Given the description of an element on the screen output the (x, y) to click on. 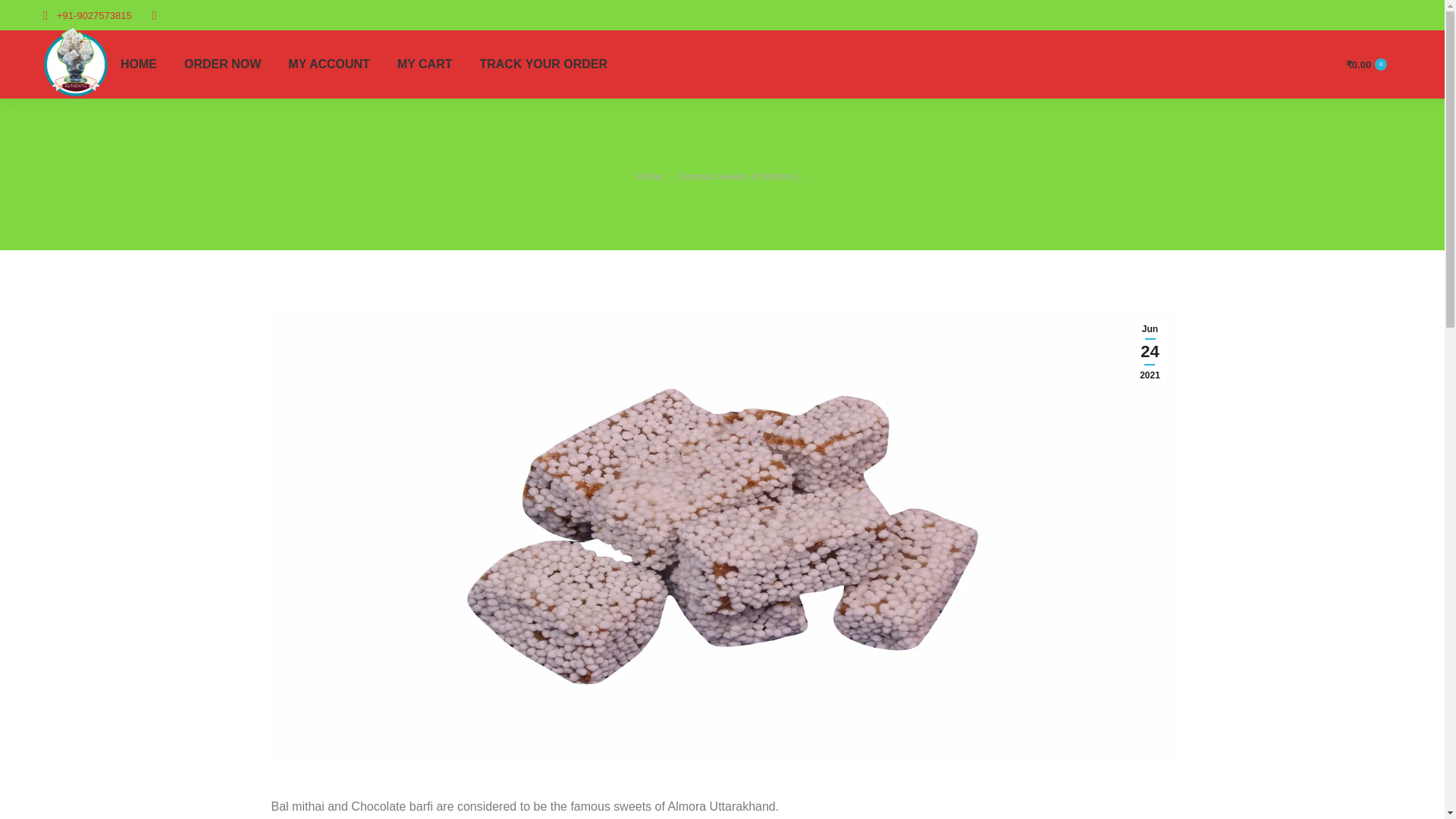
MY CART (424, 64)
MY ACCOUNT (328, 64)
Go! (30, 24)
HOME (138, 64)
Home (649, 175)
ORDER NOW (221, 64)
TRACK YOUR ORDER (543, 64)
